Given the description of an element on the screen output the (x, y) to click on. 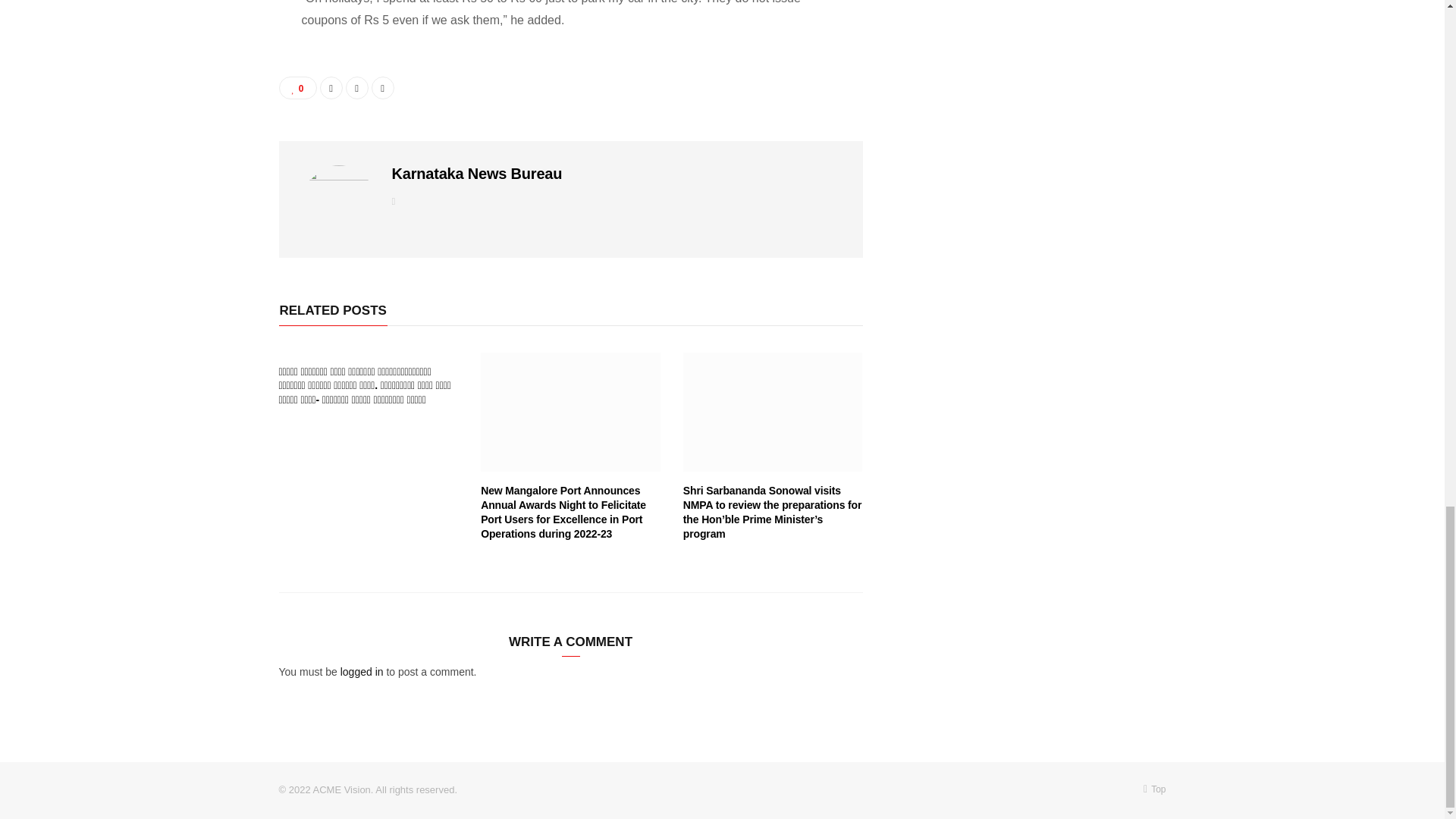
Share on Twitter (357, 87)
Share on Facebook (331, 87)
